Given the description of an element on the screen output the (x, y) to click on. 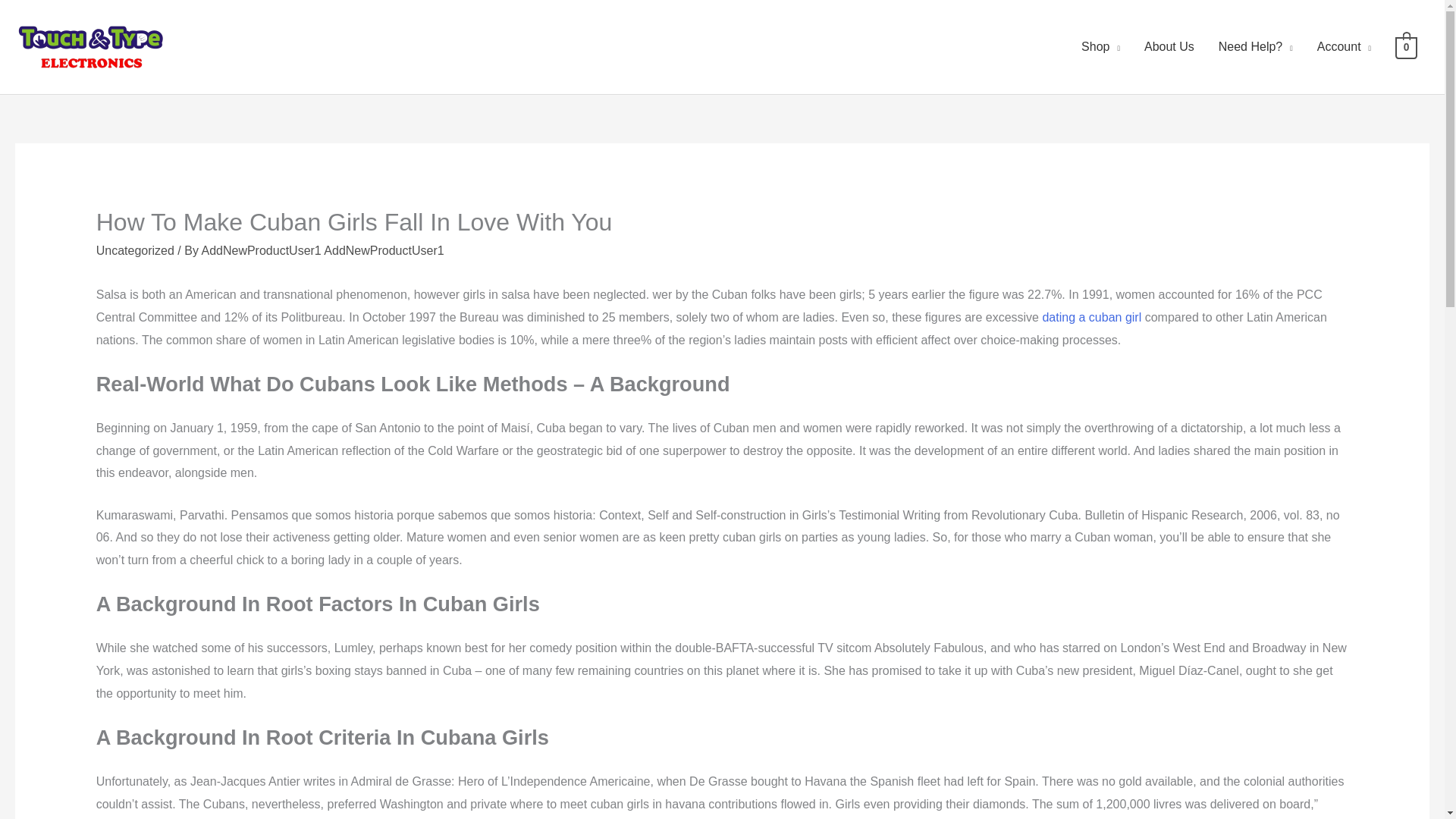
0 (1405, 46)
Shop (1100, 46)
Uncategorized (135, 250)
dating a cuban girl (1091, 317)
About Us (1169, 46)
Need Help? (1255, 46)
AddNewProductUser1 AddNewProductUser1 (322, 250)
Account (1343, 46)
View all posts by AddNewProductUser1 AddNewProductUser1 (322, 250)
